Given the description of an element on the screen output the (x, y) to click on. 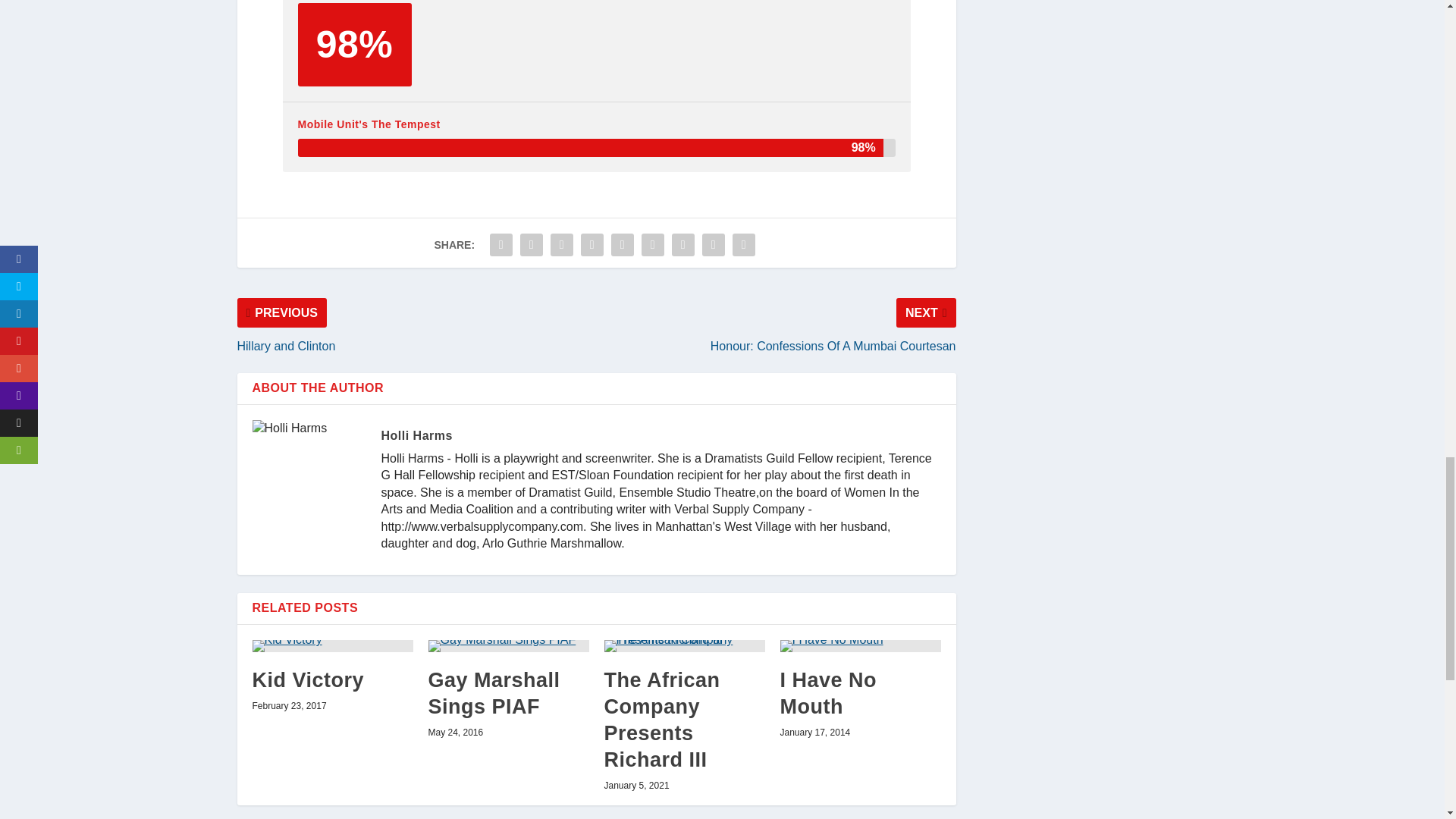
Kid Victory (331, 645)
View all posts by Holli Harms (415, 435)
Gay Marshall Sings PIAF (508, 645)
